Given the description of an element on the screen output the (x, y) to click on. 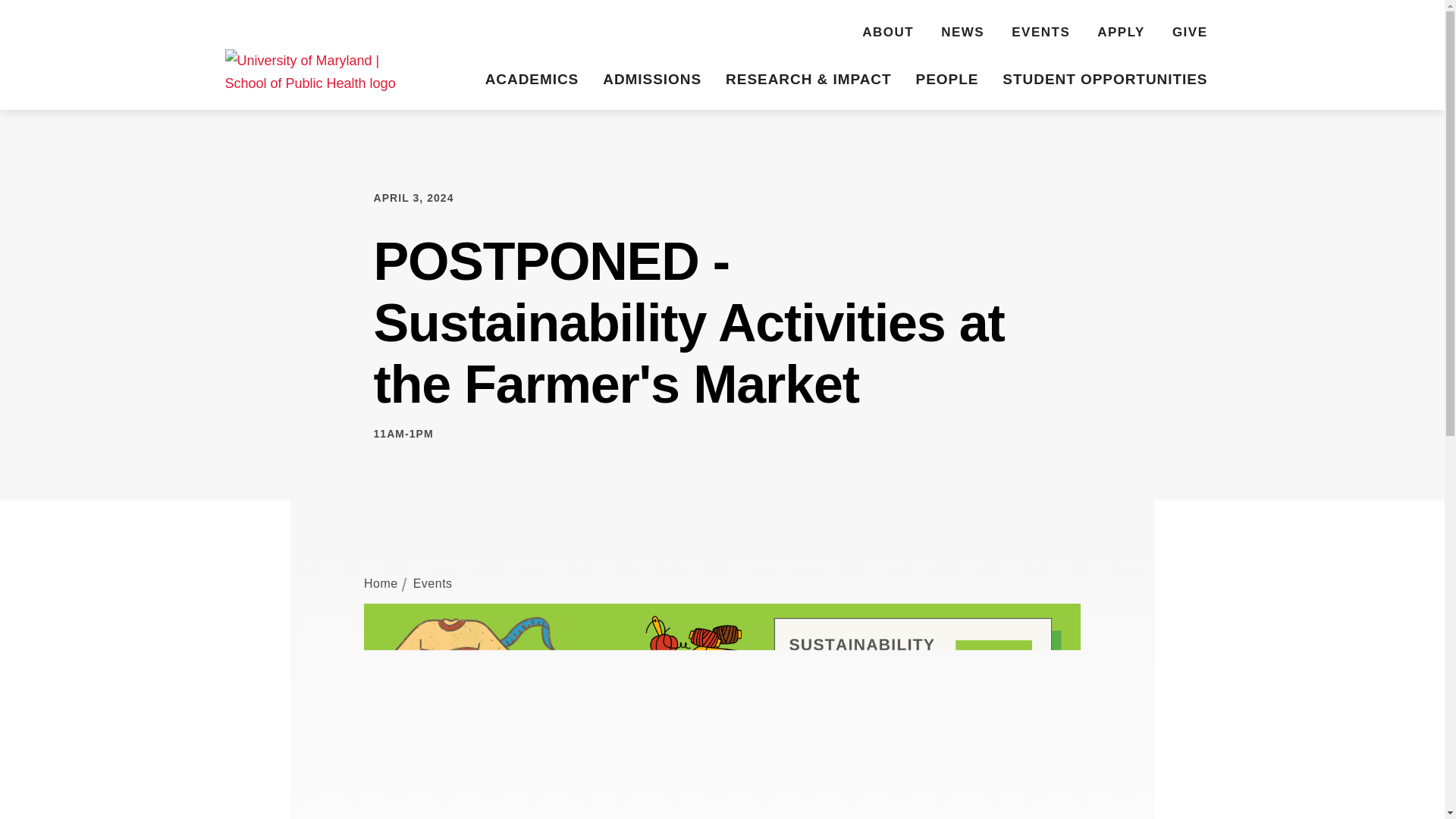
PEOPLE (947, 81)
APPLY (1120, 34)
ADMISSIONS (652, 81)
ACADEMICS (532, 81)
ABOUT (887, 34)
GIVE (1190, 34)
STUDENT OPPORTUNITIES (1105, 81)
NEWS (962, 34)
EVENTS (1040, 34)
